Given the description of an element on the screen output the (x, y) to click on. 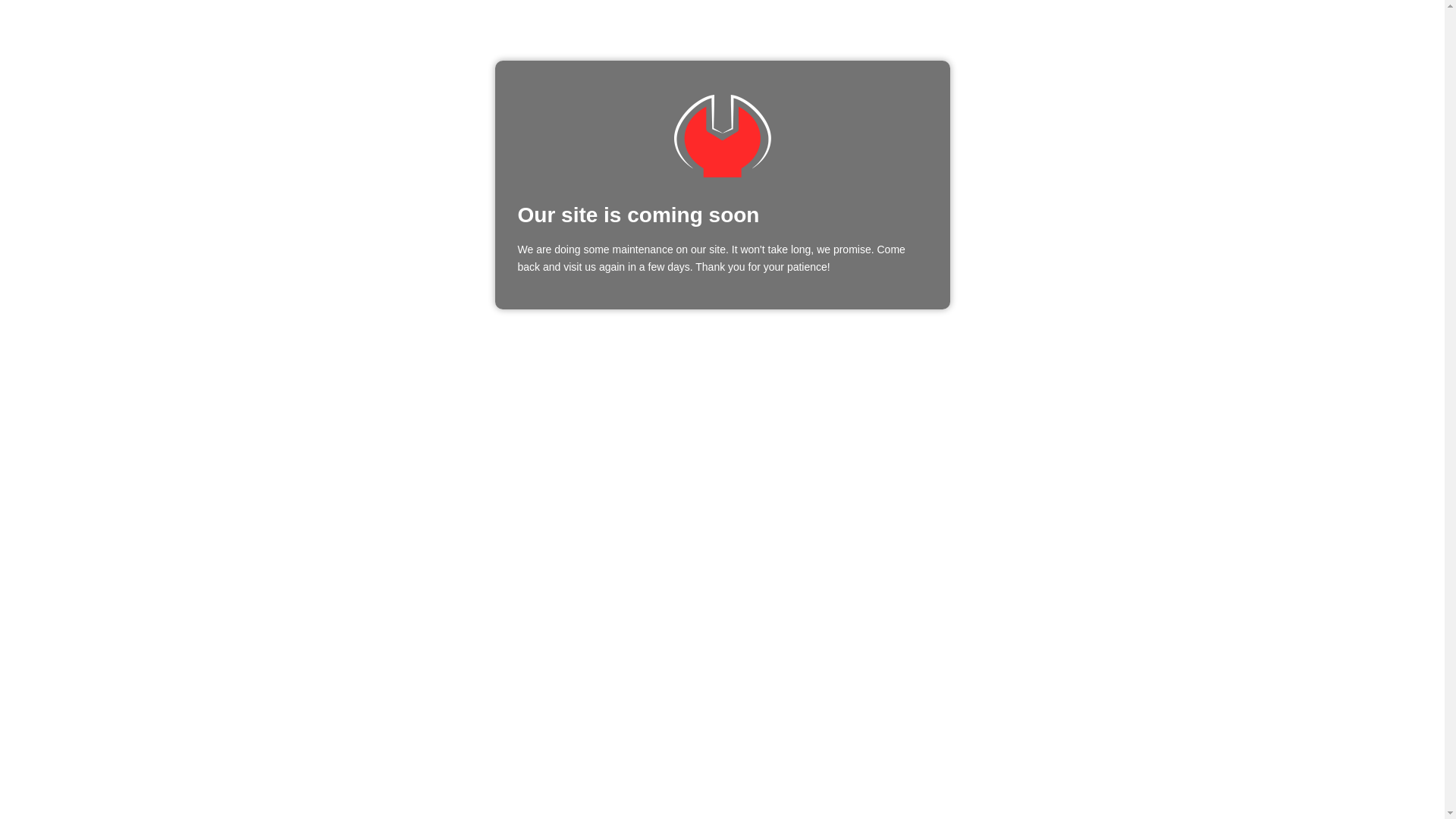
cinematic Element type: hover (721, 135)
